Given the description of an element on the screen output the (x, y) to click on. 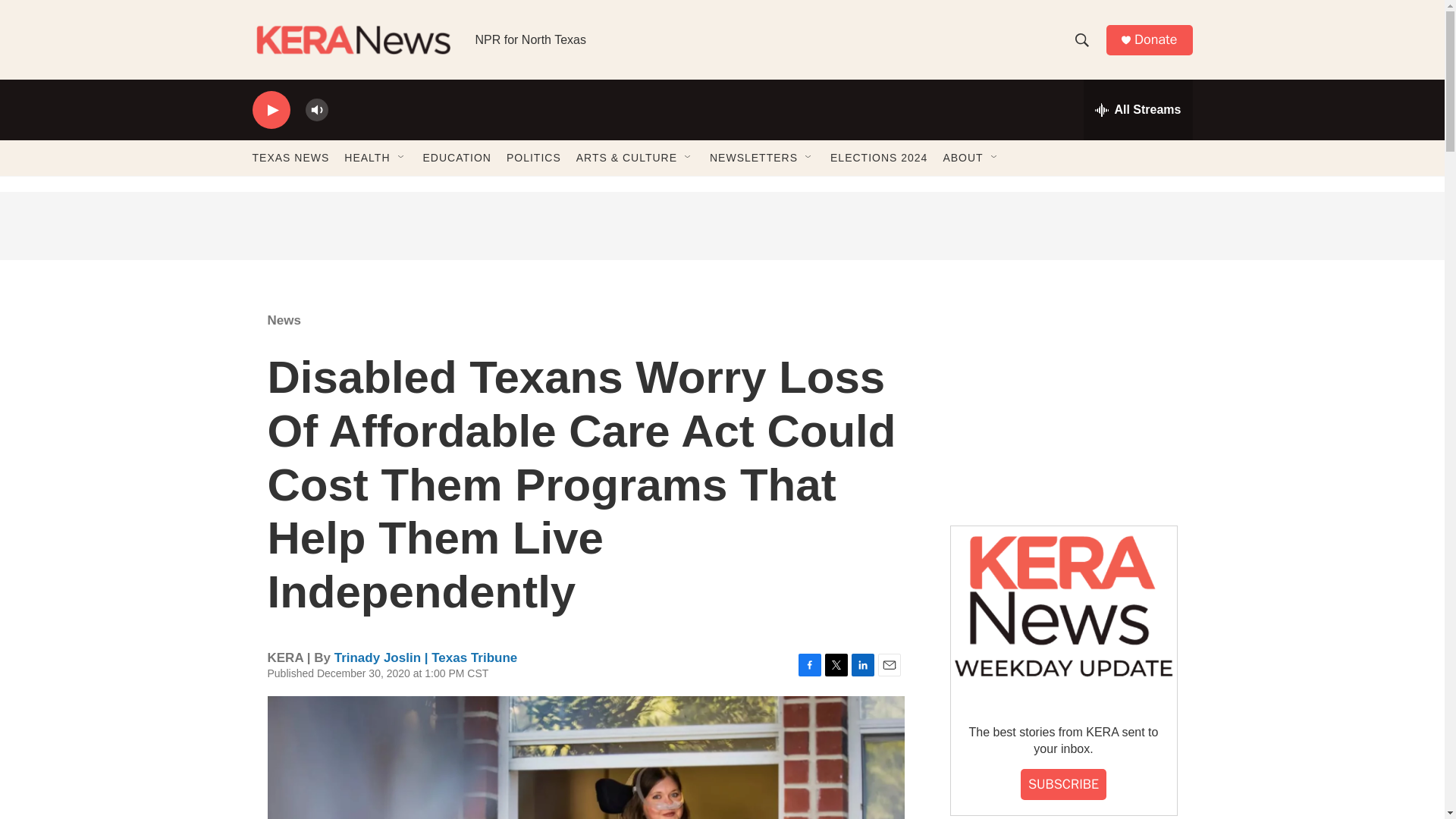
3rd party ad content (721, 225)
Show Search (1081, 39)
3rd party ad content (1062, 400)
